Given the description of an element on the screen output the (x, y) to click on. 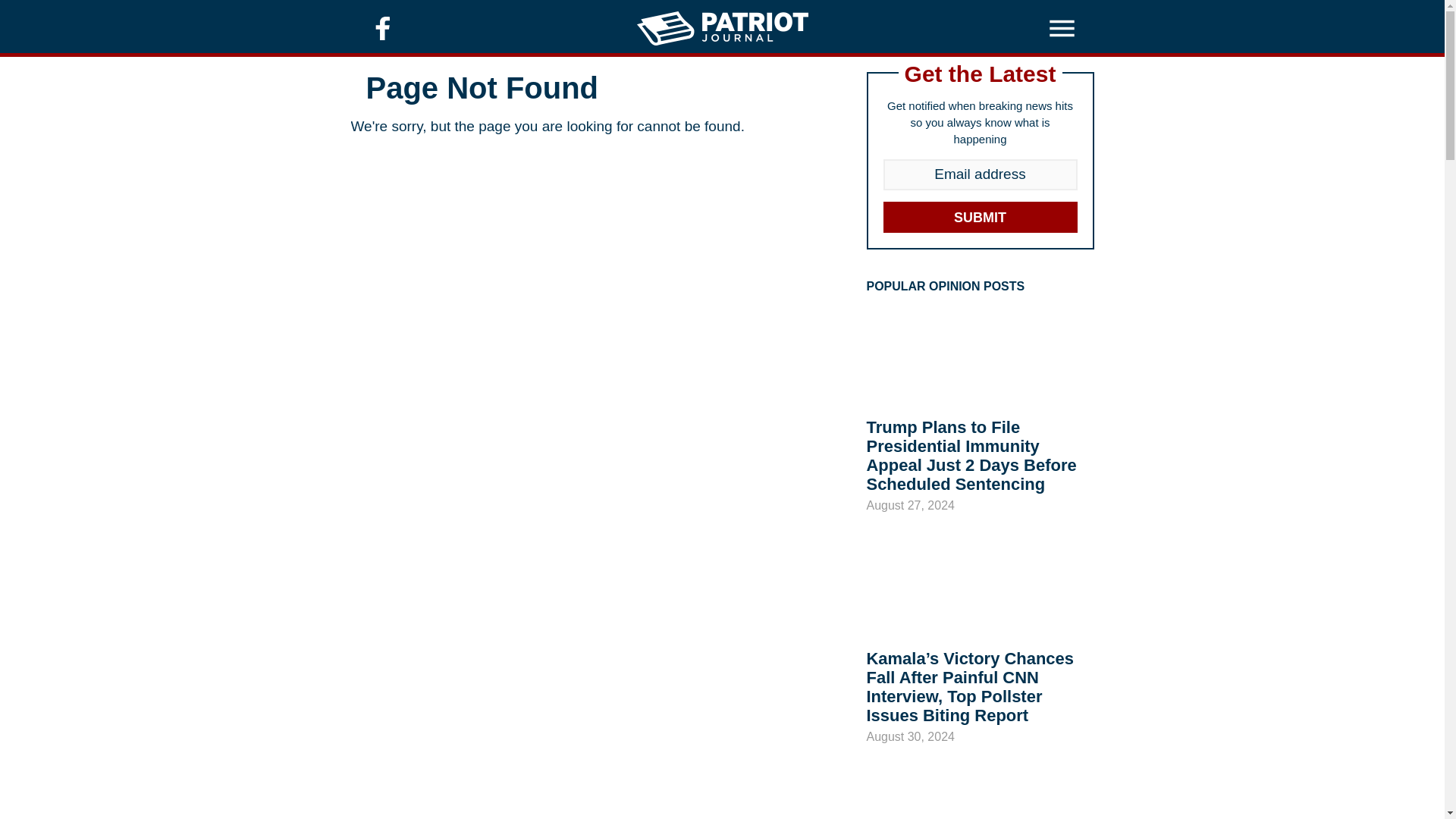
Submit (979, 216)
Submit (979, 216)
